Given the description of an element on the screen output the (x, y) to click on. 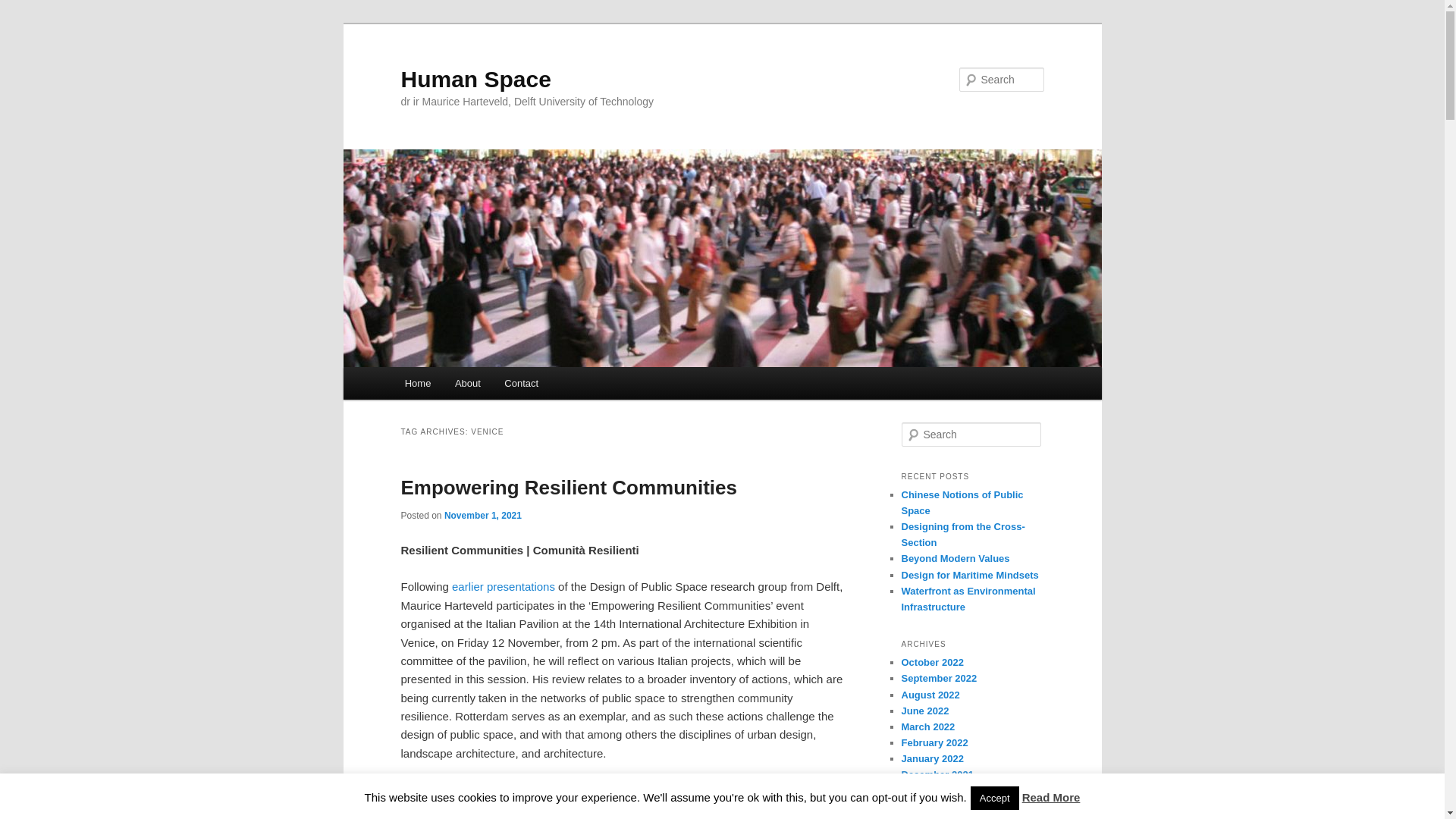
About (467, 382)
Search (24, 8)
10:00 (482, 515)
earlier presentations (502, 585)
November 1, 2021 (482, 515)
Home (417, 382)
Human Space (475, 78)
Empowering Resilient Communities (568, 486)
Contact (521, 382)
